Given the description of an element on the screen output the (x, y) to click on. 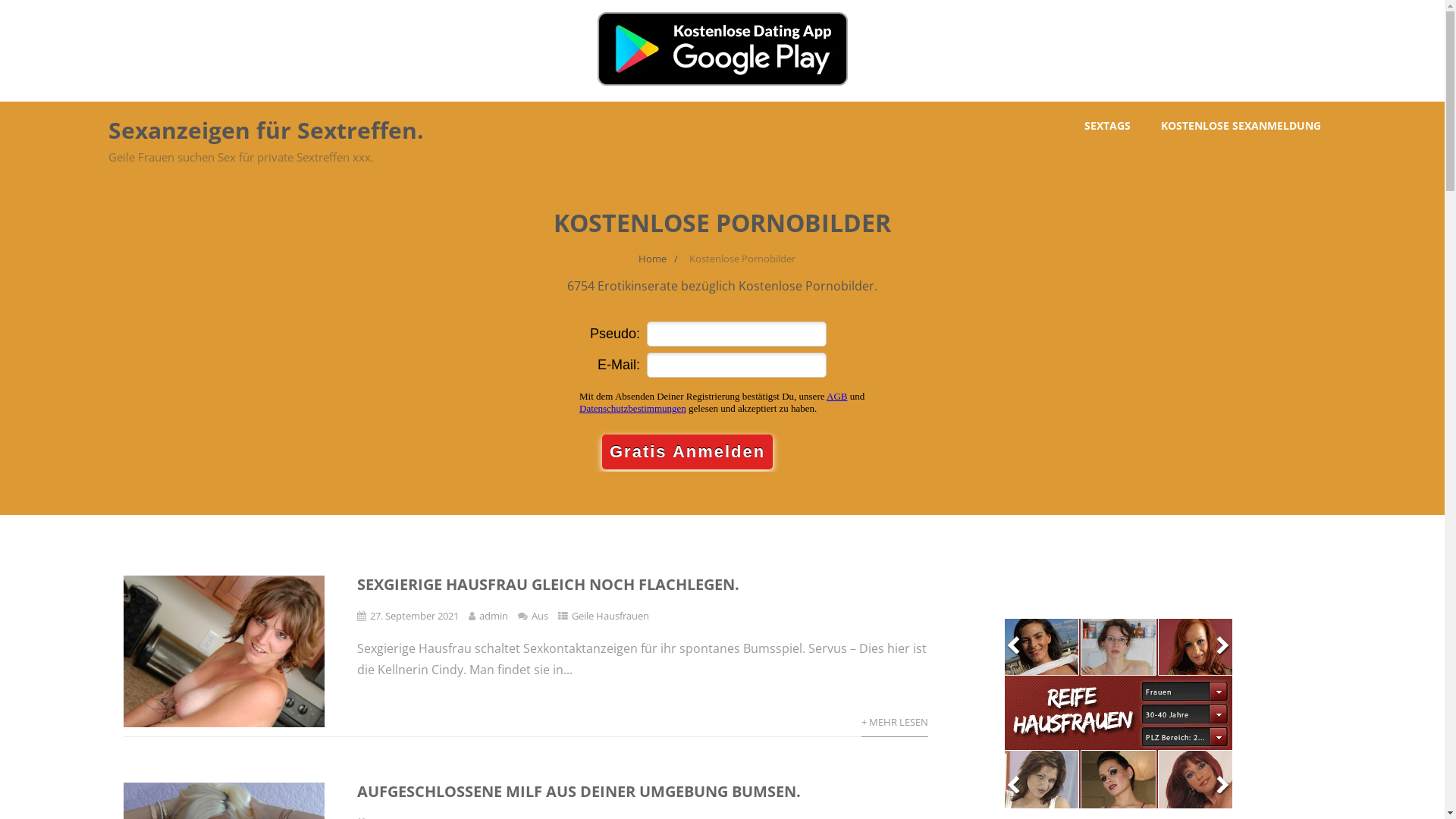
Geile Hausfrauen Element type: text (610, 615)
admin Element type: text (493, 615)
KOSTENLOSE SEXANMELDUNG Element type: text (1240, 125)
AUFGESCHLOSSENE MILF AUS DEINER UMGEBUNG BUMSEN. Element type: text (578, 791)
+ MEHR LESEN Element type: text (894, 722)
Home Element type: text (652, 258)
SEXGIERIGE HAUSFRAU GLEICH NOCH FLACHLEGEN. Element type: text (548, 584)
27. September 2021 Element type: text (414, 615)
SEXTAGS Element type: text (1107, 125)
